Given the description of an element on the screen output the (x, y) to click on. 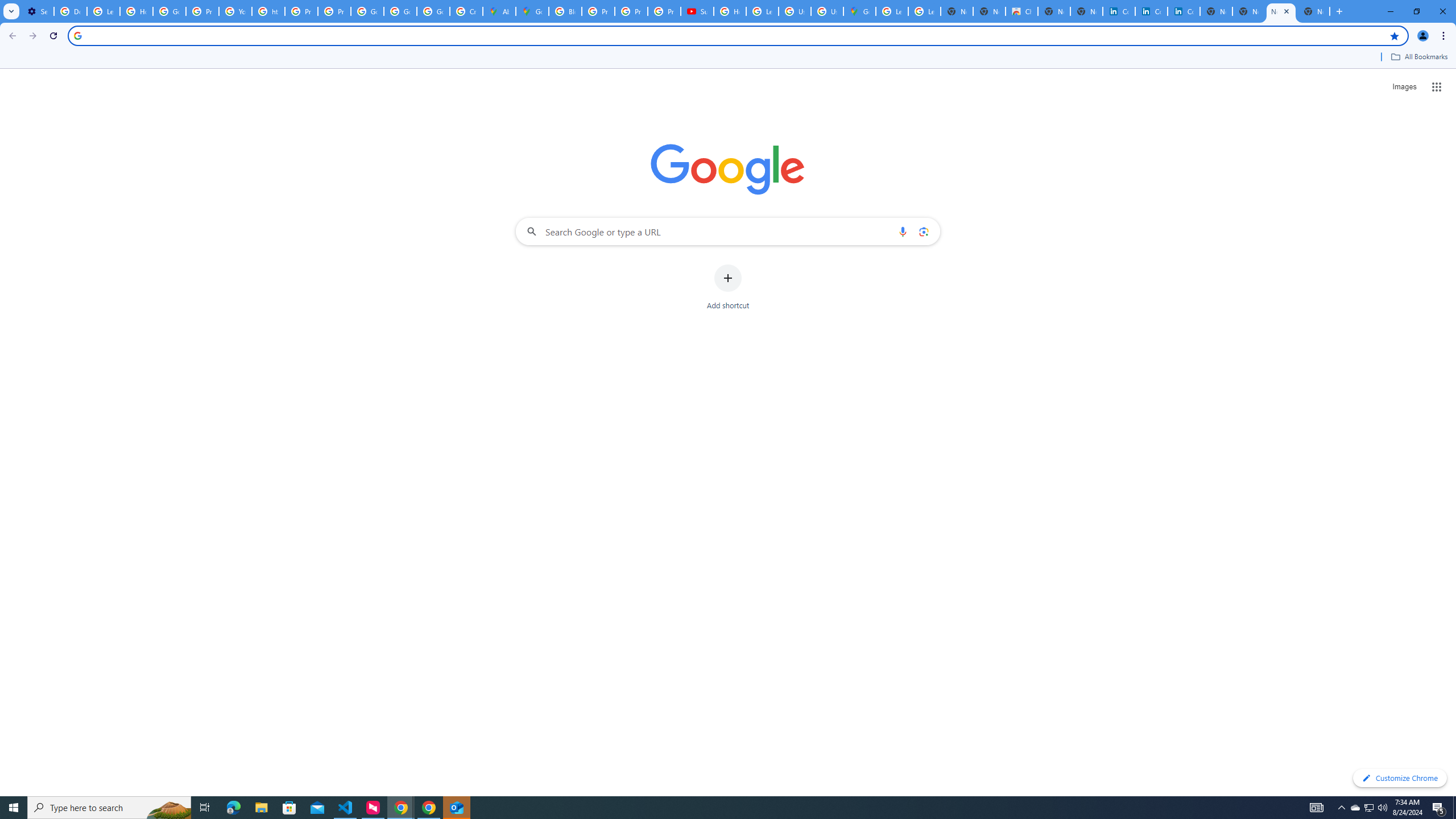
Chrome (1445, 35)
Blogger Policies and Guidelines - Transparency Center (564, 11)
Bookmark this tab (1393, 35)
Learn how to find your photos - Google Photos Help (103, 11)
Google apps (1436, 86)
Customize Chrome (1399, 778)
Privacy Help Center - Policies Help (631, 11)
New Tab (1338, 11)
Cookie Policy | LinkedIn (1150, 11)
Close (1286, 11)
